Given the description of an element on the screen output the (x, y) to click on. 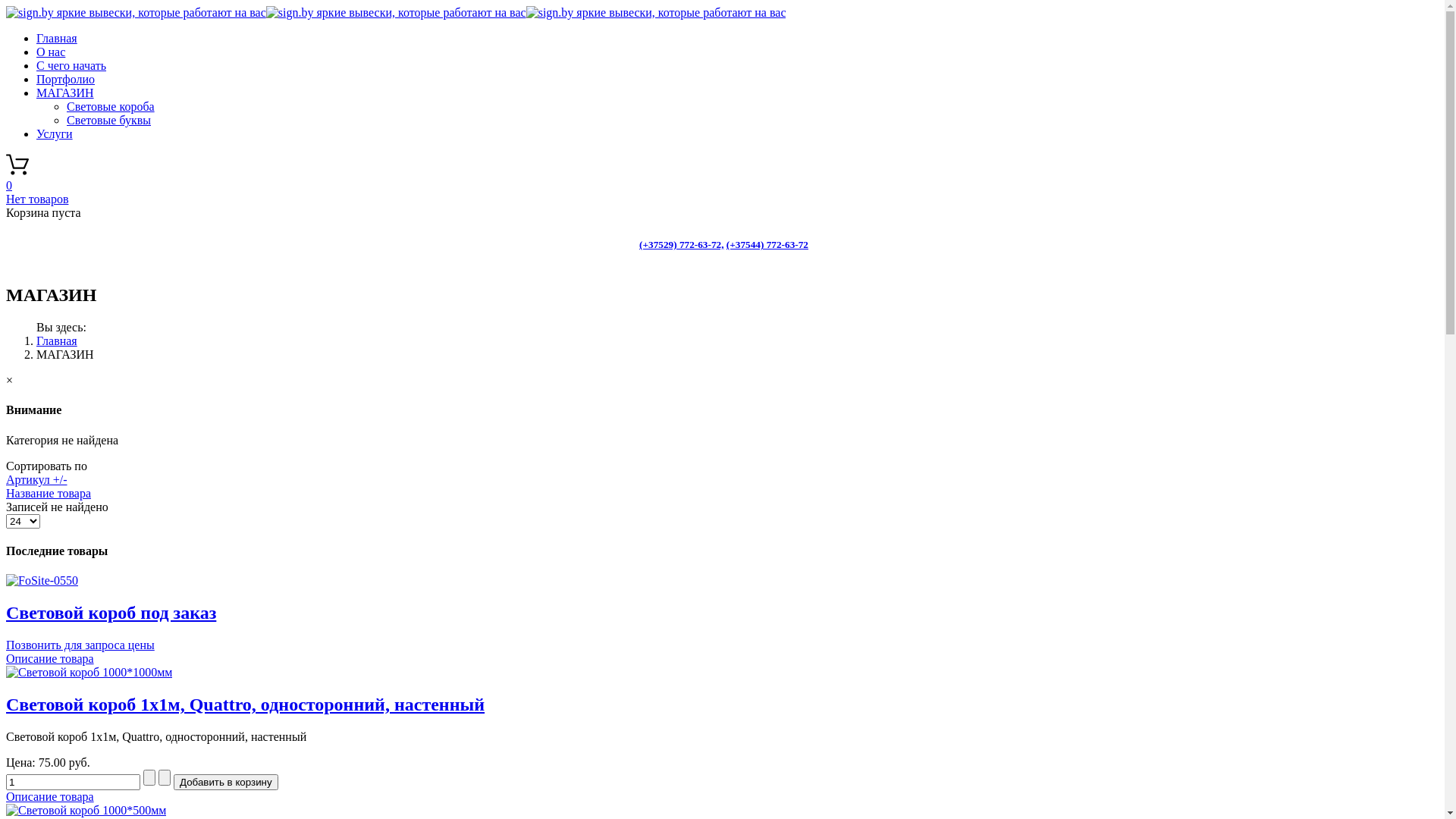
(+37544) 772-63-72 Element type: text (767, 244)
(+37529) 772-63-72, Element type: text (681, 244)
